Given the description of an element on the screen output the (x, y) to click on. 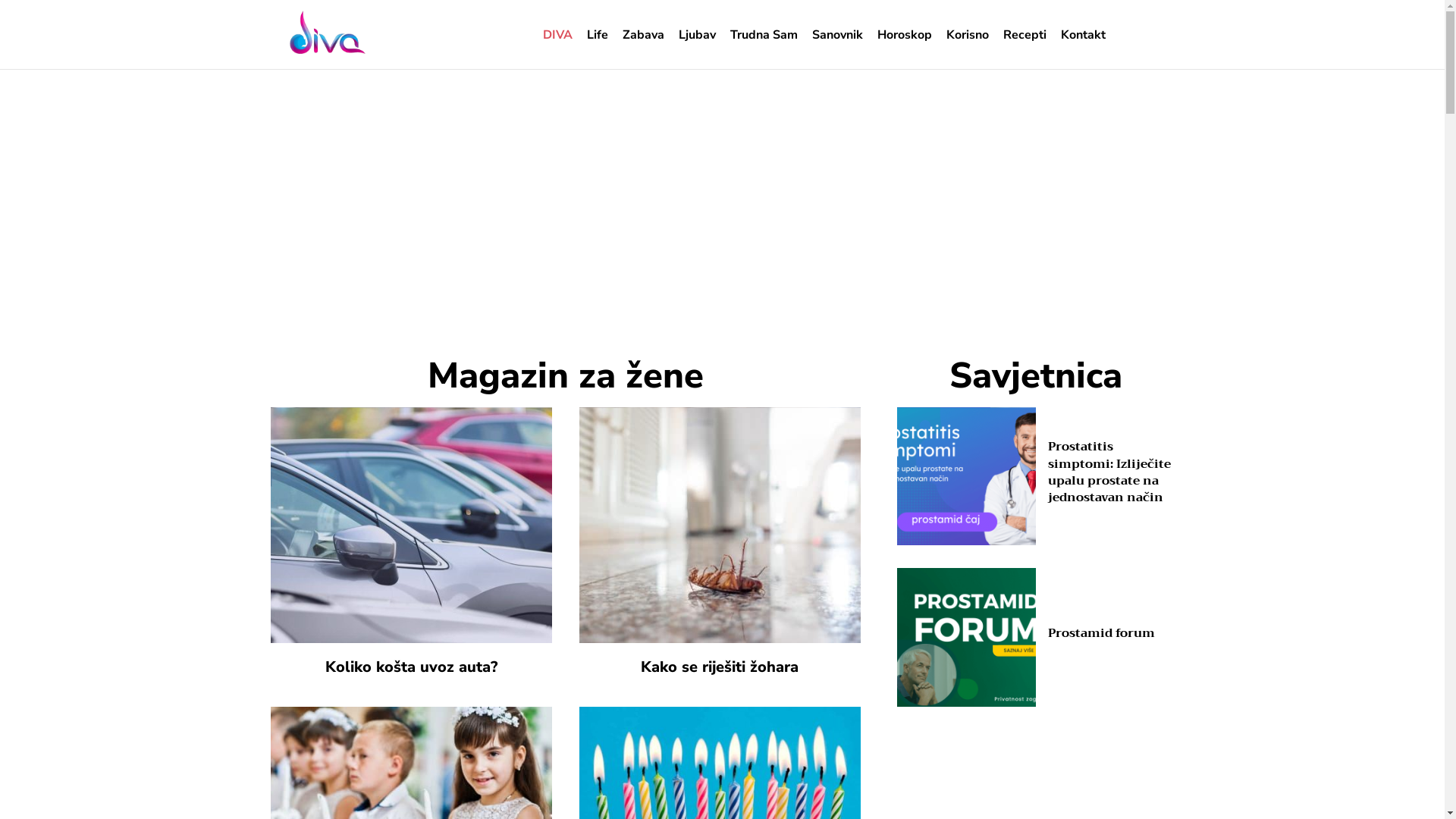
Ljubav Element type: text (697, 34)
Prostamid forum Element type: text (1101, 632)
Zabava Element type: text (643, 34)
Horoskop Element type: text (904, 34)
Prostamid forum Element type: hover (966, 636)
Korisno Element type: text (967, 34)
Recepti Element type: text (1024, 34)
Advertisement Element type: hover (721, 213)
Trudna Sam Element type: text (763, 34)
Sanovnik Element type: text (837, 34)
Life Element type: text (597, 34)
Kontakt Element type: text (1083, 34)
DIVA Element type: text (557, 34)
